Given the description of an element on the screen output the (x, y) to click on. 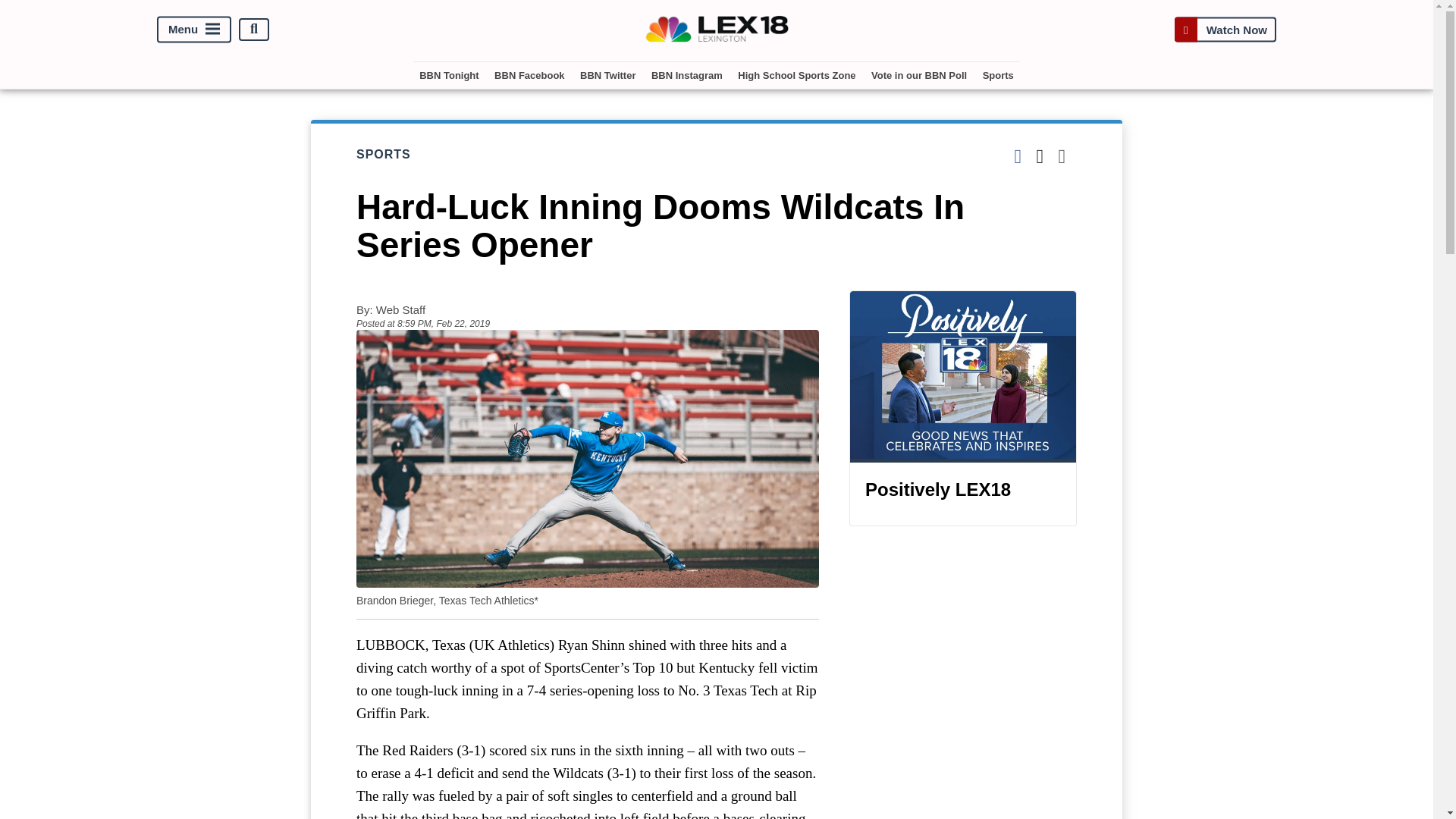
Menu (194, 28)
Watch Now (1224, 29)
